Given the description of an element on the screen output the (x, y) to click on. 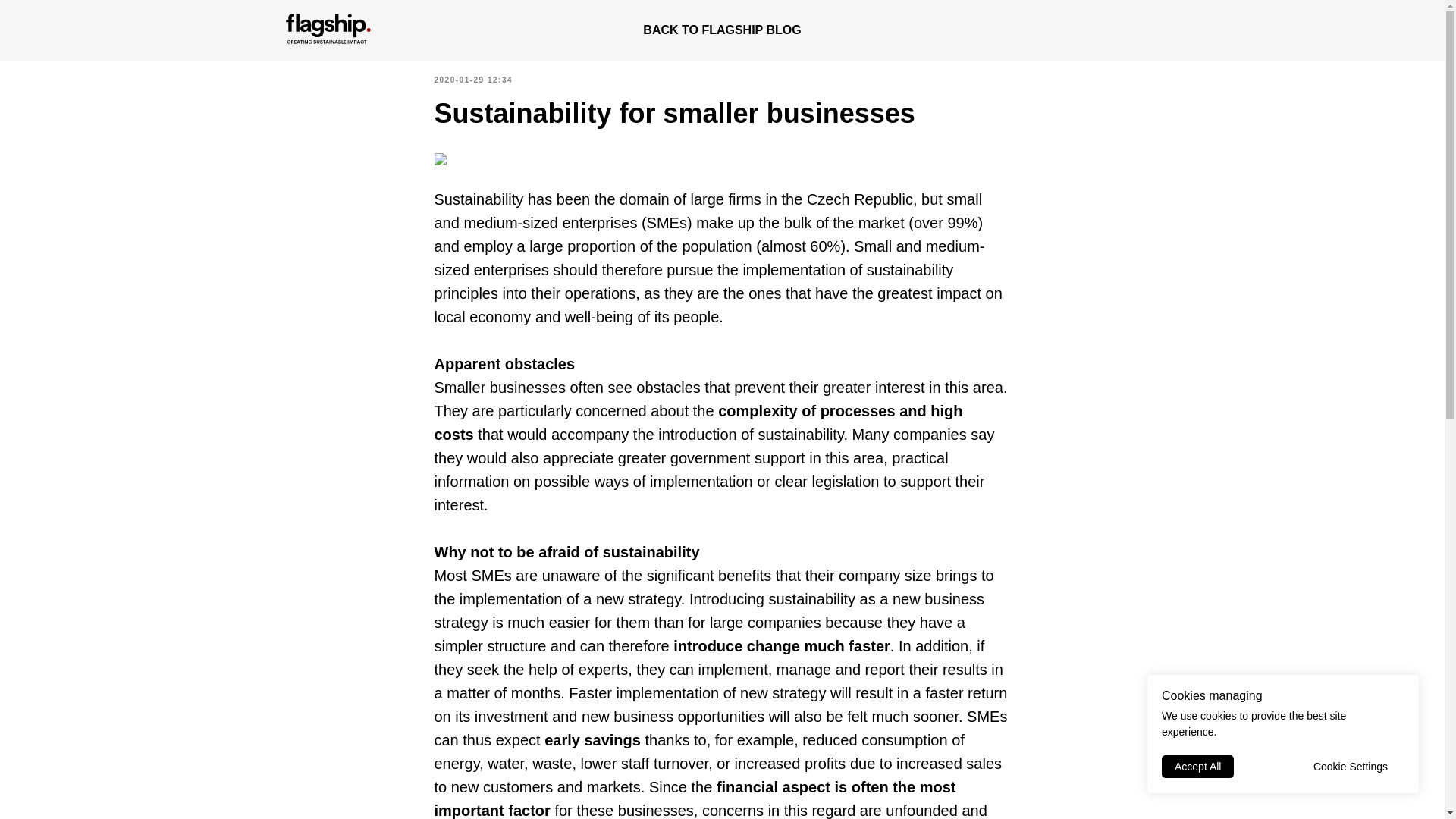
Cookie Settings (1350, 766)
BACK TO FLAGSHIP BLOG (721, 29)
Accept All (1197, 766)
